Given the description of an element on the screen output the (x, y) to click on. 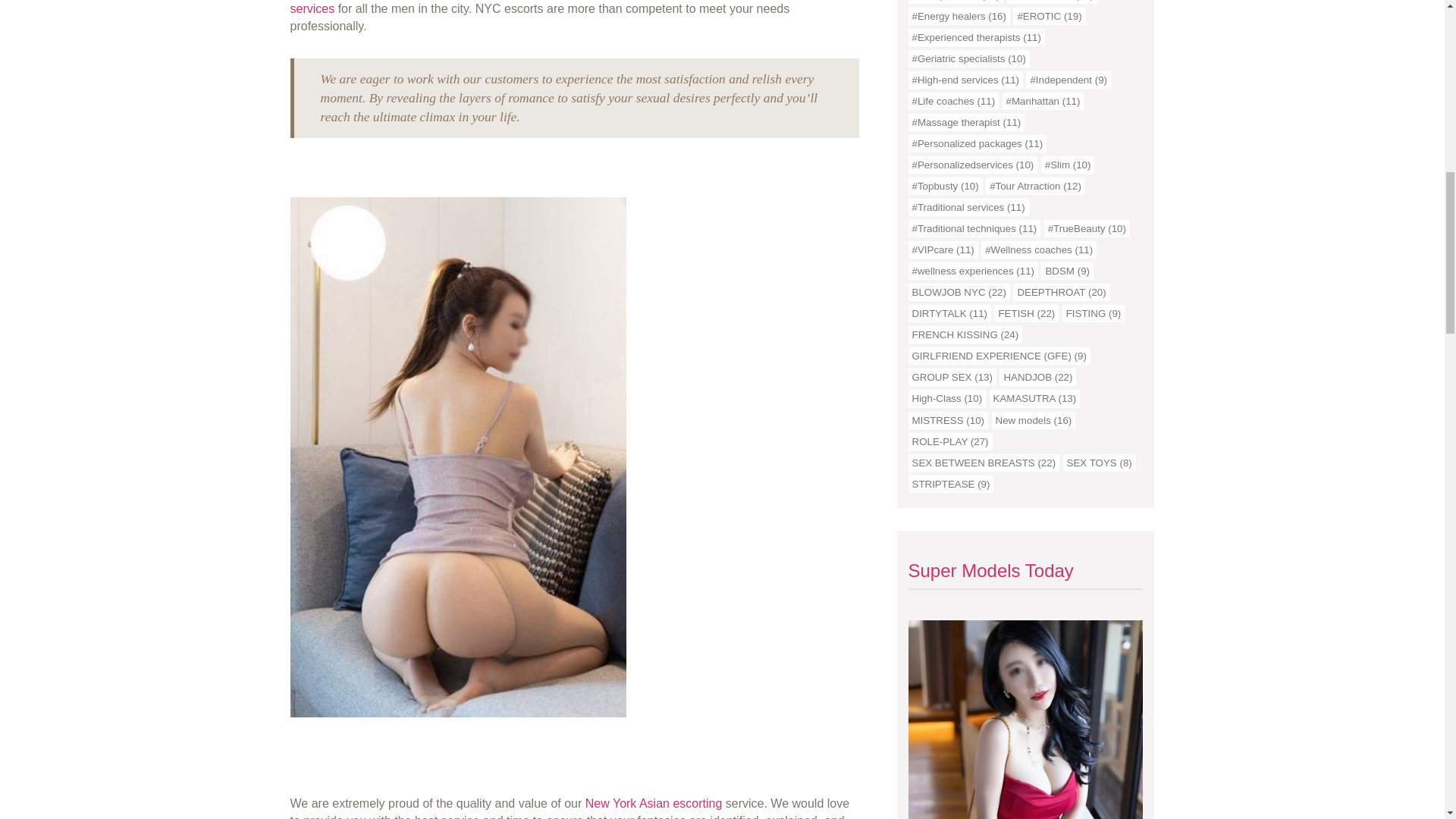
New York Asian escorting (653, 802)
Asian Escort services (565, 7)
